Given the description of an element on the screen output the (x, y) to click on. 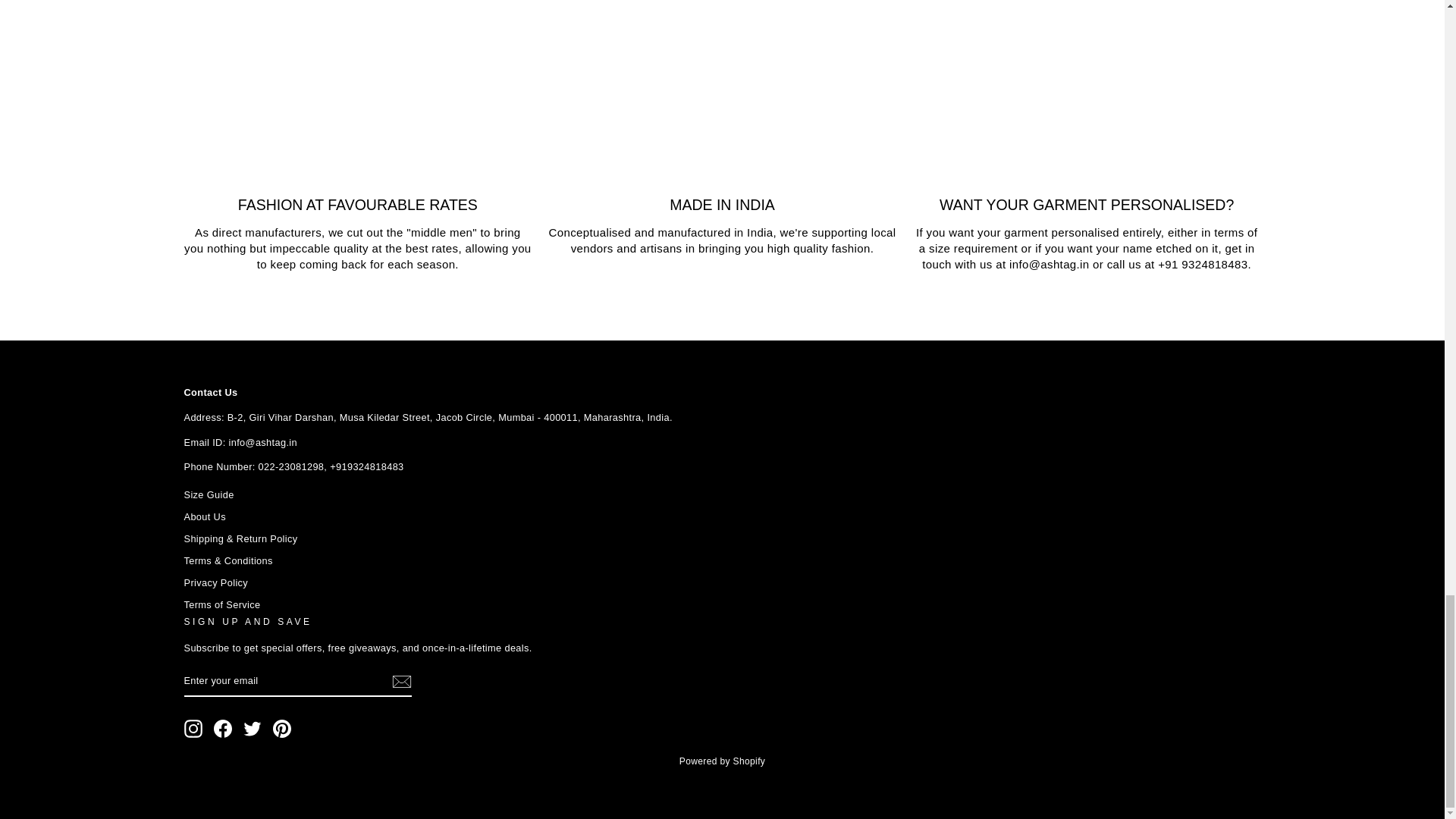
twitter (251, 728)
instagram (192, 728)
icon-email (400, 681)
